Given the description of an element on the screen output the (x, y) to click on. 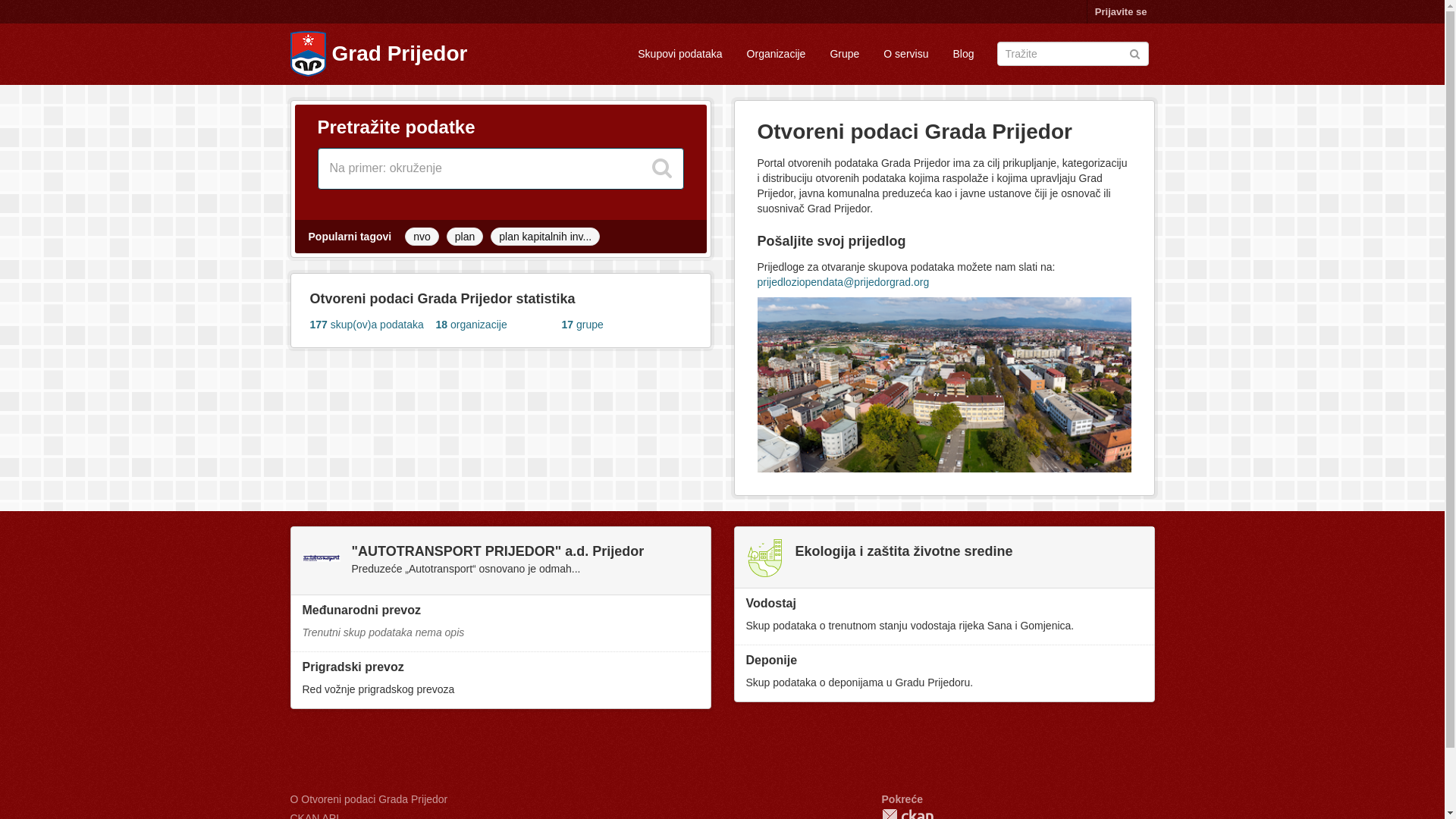
plan Element type: text (464, 236)
Grupe Element type: text (844, 53)
"AUTOTRANSPORT PRIJEDOR" a.d. Prijedor Element type: text (497, 550)
Prijavite se Element type: text (1120, 11)
nvo Element type: text (421, 236)
Prigradski prevoz Element type: text (352, 666)
17 grupe Element type: text (624, 324)
O Otvoreni podaci Grada Prijedor Element type: text (368, 799)
177 skup(ov)a podataka Element type: text (372, 324)
Blog Element type: text (963, 53)
prijedloziopendata@prijedorgrad.org Element type: text (842, 282)
18 organizacije Element type: text (498, 324)
Vodostaj Element type: text (771, 602)
Skupovi podataka Element type: text (679, 53)
plan kapitalnih inv... Element type: text (544, 236)
Deponije Element type: text (771, 659)
Otvoreni podaci Grada Prijedor Element type: hover (307, 53)
O servisu Element type: text (905, 53)
Organizacije Element type: text (776, 53)
